Given the description of an element on the screen output the (x, y) to click on. 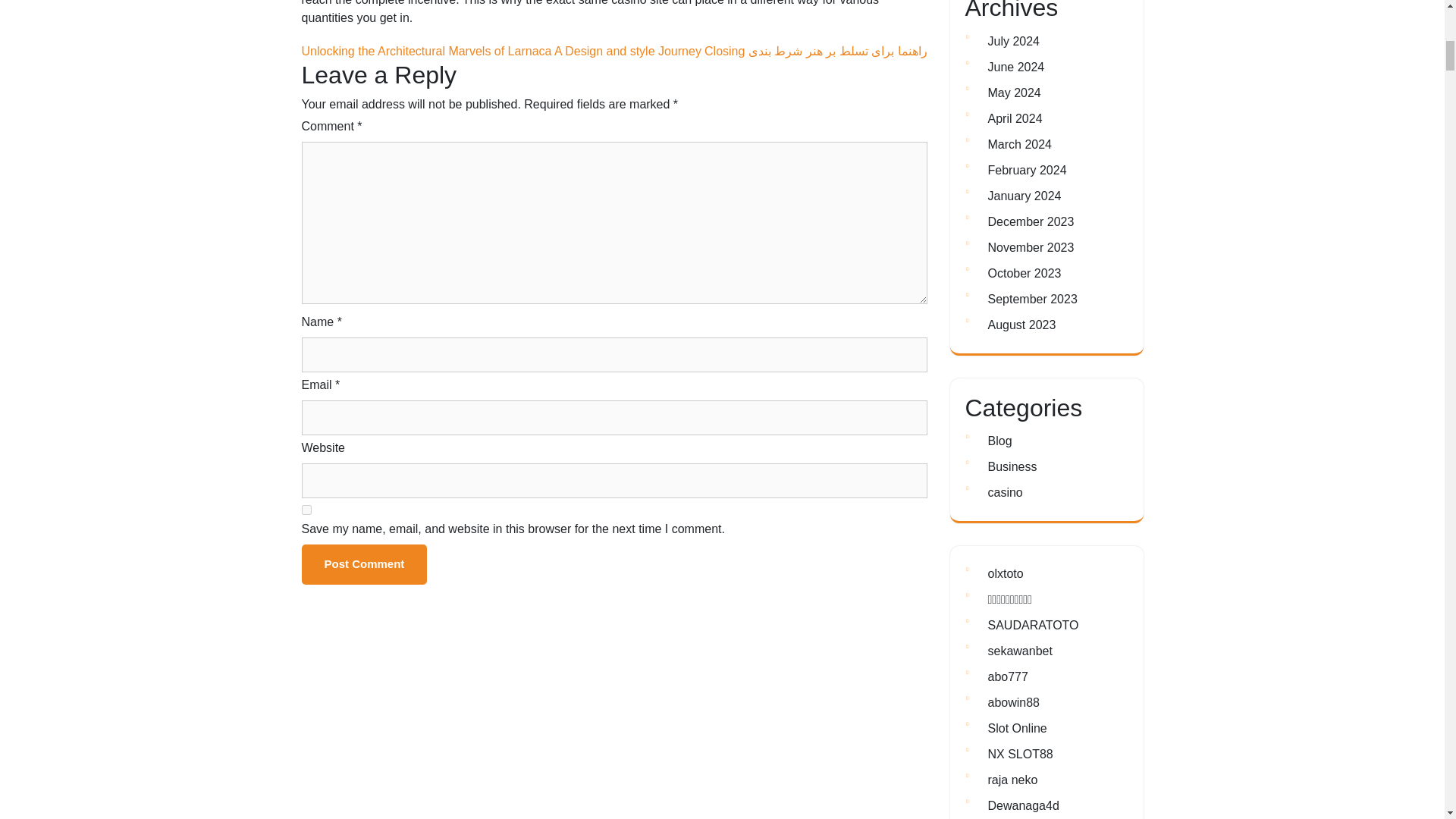
abo777 (1007, 676)
December 2023 (1030, 221)
yes (306, 510)
SAUDARATOTO (1032, 625)
July 2024 (1013, 41)
October 2023 (1024, 273)
Business (1011, 466)
casino (1004, 492)
NX SLOT88 (1019, 753)
Blog (999, 440)
September 2023 (1032, 298)
Post Comment (364, 564)
olxtoto (1005, 573)
Slot Online (1016, 727)
sekawanbet (1019, 650)
